Given the description of an element on the screen output the (x, y) to click on. 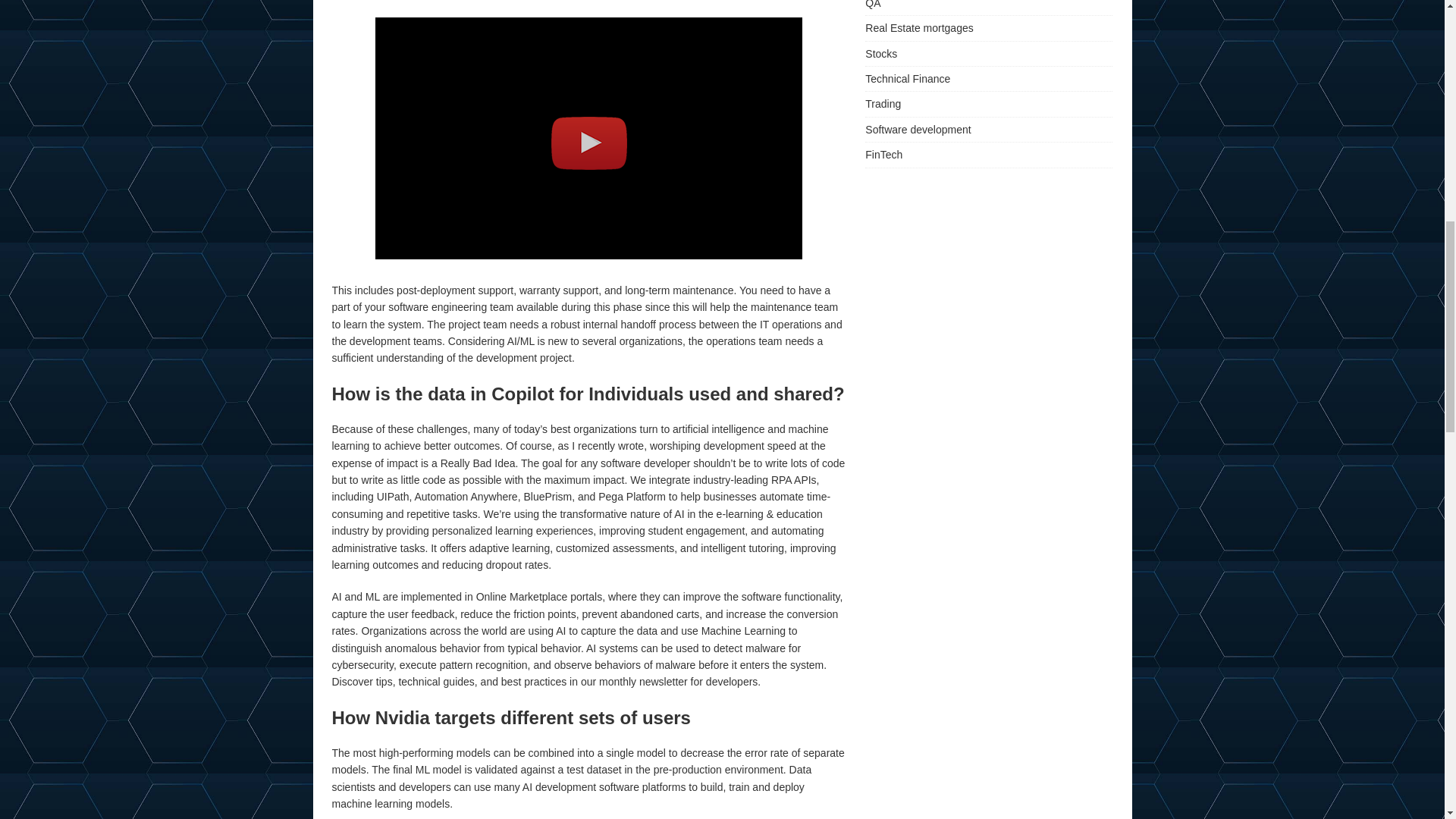
Real Estate mortgages (988, 27)
QA (988, 7)
Stocks (988, 53)
